Given the description of an element on the screen output the (x, y) to click on. 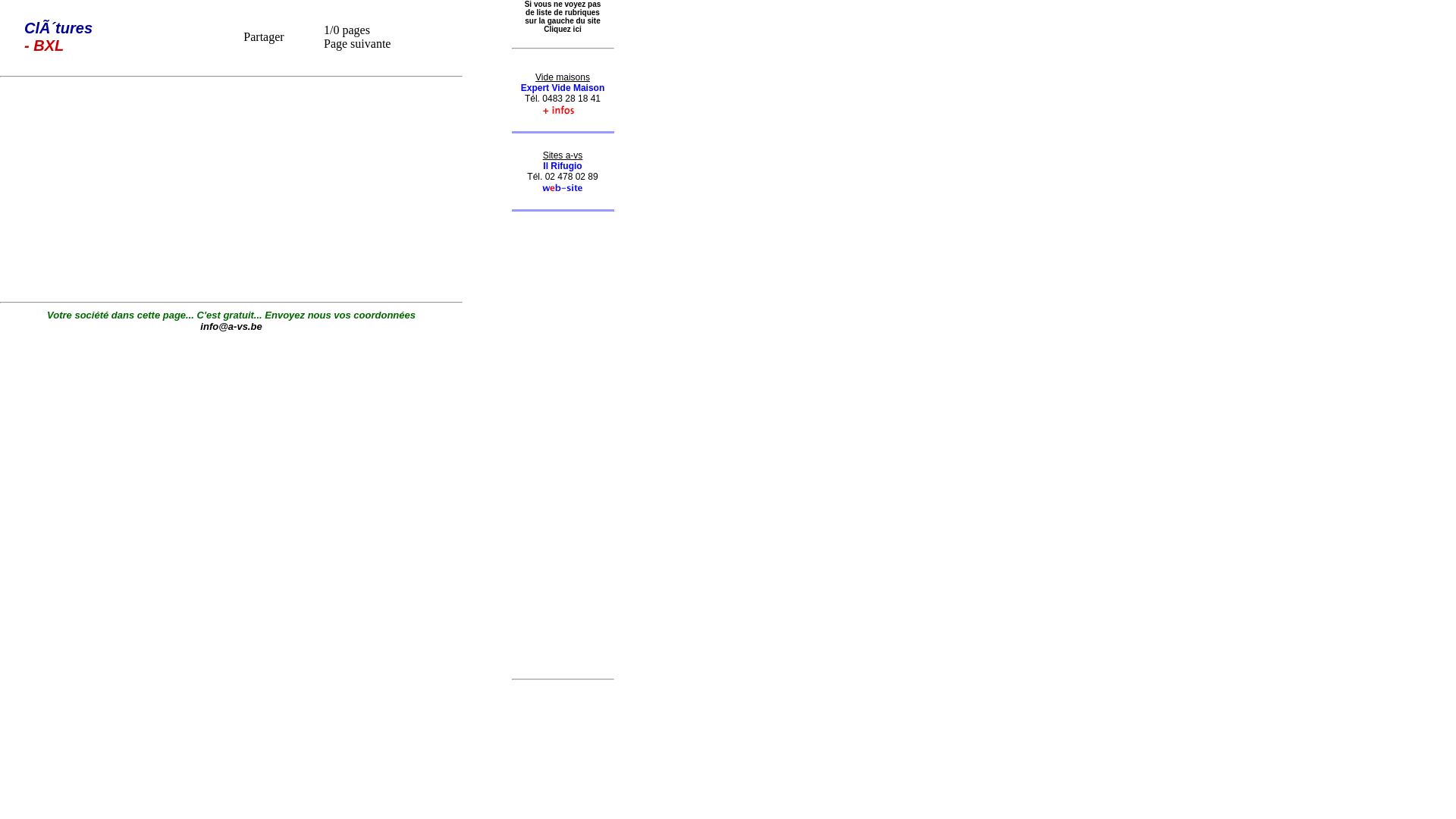
Cliquez ici Element type: text (571, 37)
Expert Vide Maison Element type: text (562, 86)
info@a-vs.be Element type: text (230, 326)
Advertisement Element type: hover (562, 438)
Il Rifugio Element type: text (561, 165)
Page suivante Element type: text (356, 42)
Advertisement Element type: hover (230, 189)
Partager Element type: text (263, 36)
